Given the description of an element on the screen output the (x, y) to click on. 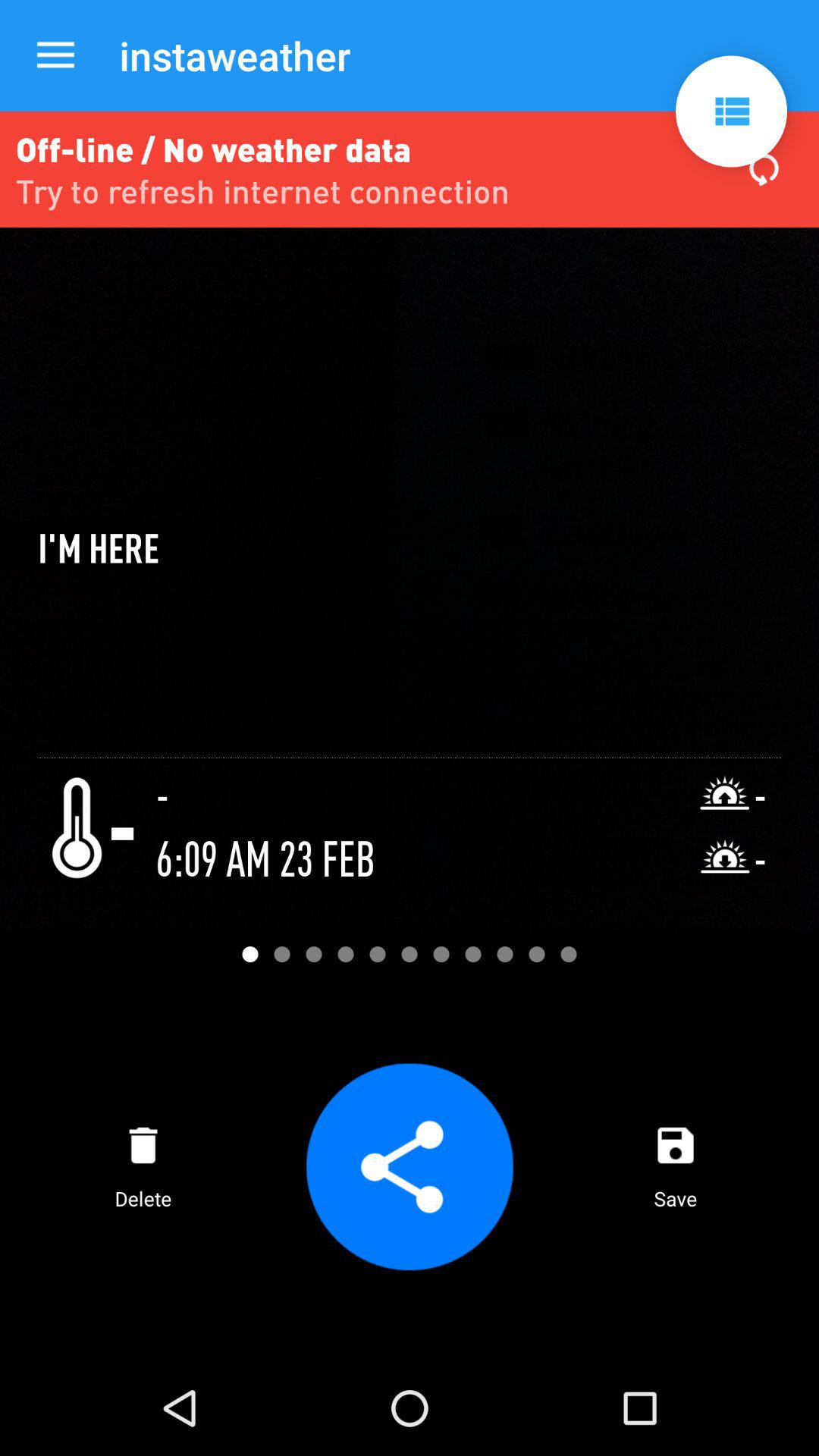
click the app to the left of instaweather icon (55, 55)
